Given the description of an element on the screen output the (x, y) to click on. 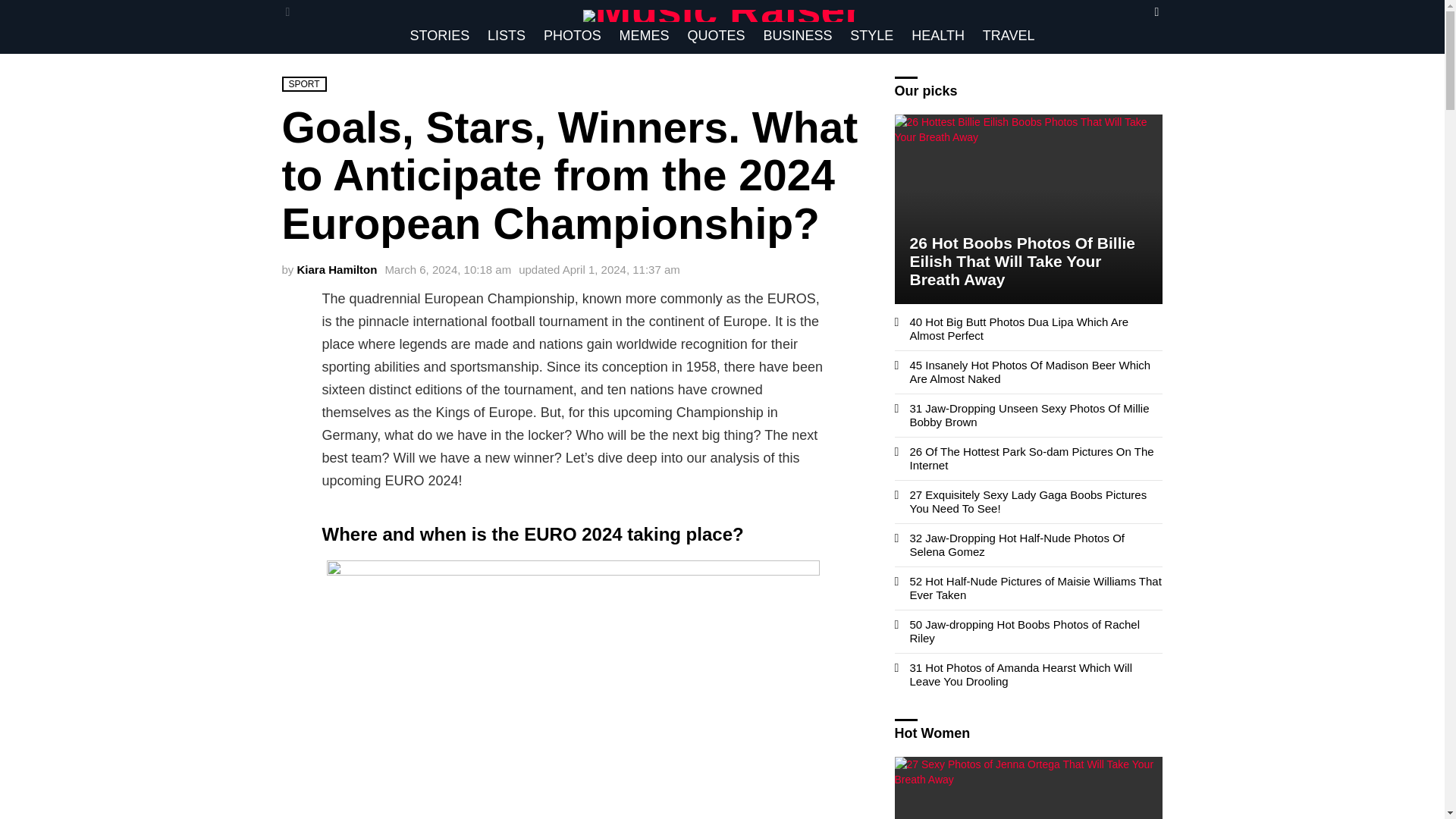
TRAVEL (1008, 35)
HEALTH (938, 35)
Kiara Hamilton (337, 269)
SPORT (304, 83)
PHOTOS (571, 35)
BUSINESS (797, 35)
QUOTES (715, 35)
STYLE (872, 35)
LISTS (506, 35)
MEMES (644, 35)
